Given the description of an element on the screen output the (x, y) to click on. 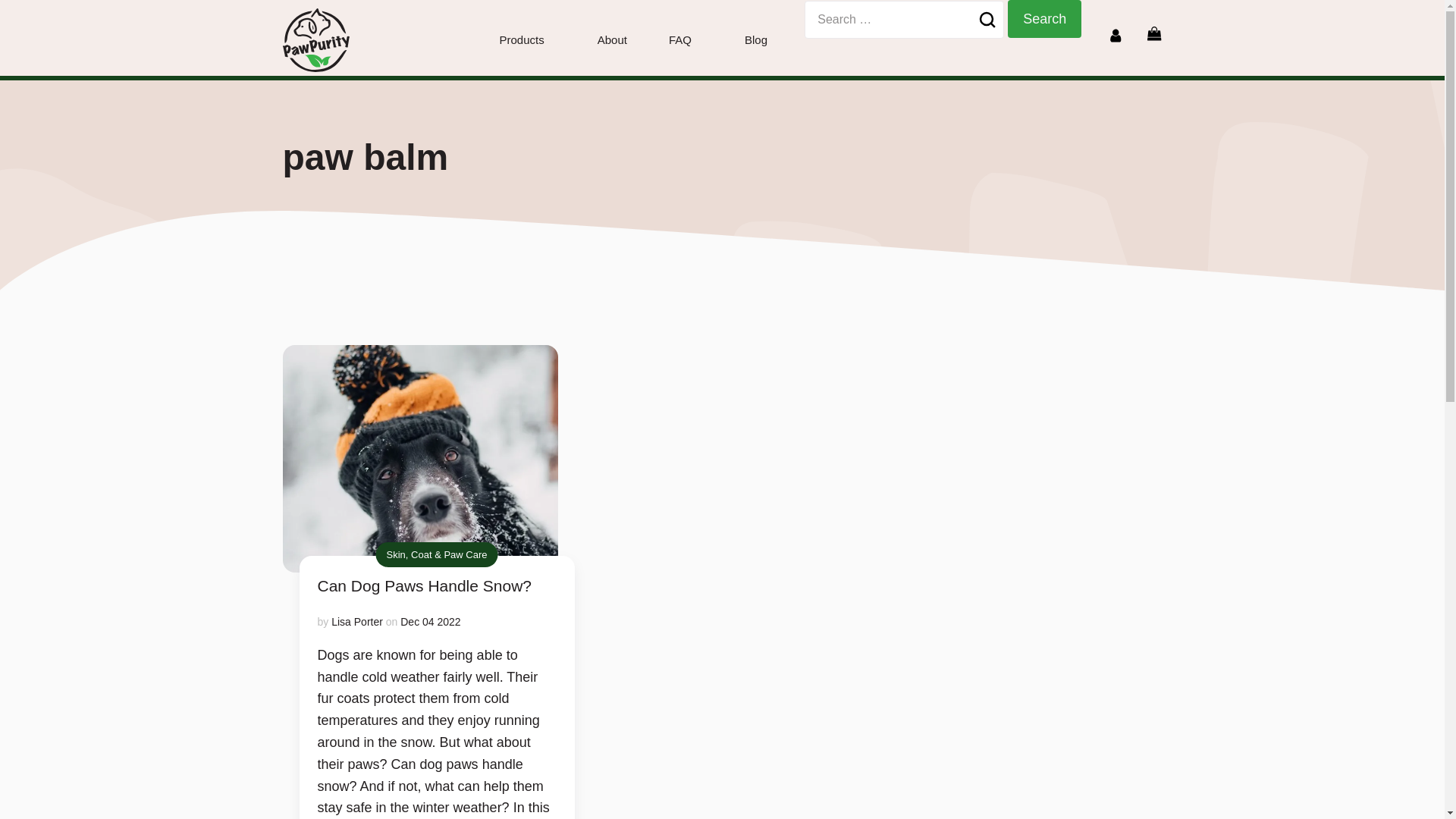
Search (1044, 18)
Can Dog Paws Handle Snow? (436, 586)
Search (1044, 18)
Go to Cart (1154, 33)
User Icon (1114, 35)
Search (1044, 18)
